Given the description of an element on the screen output the (x, y) to click on. 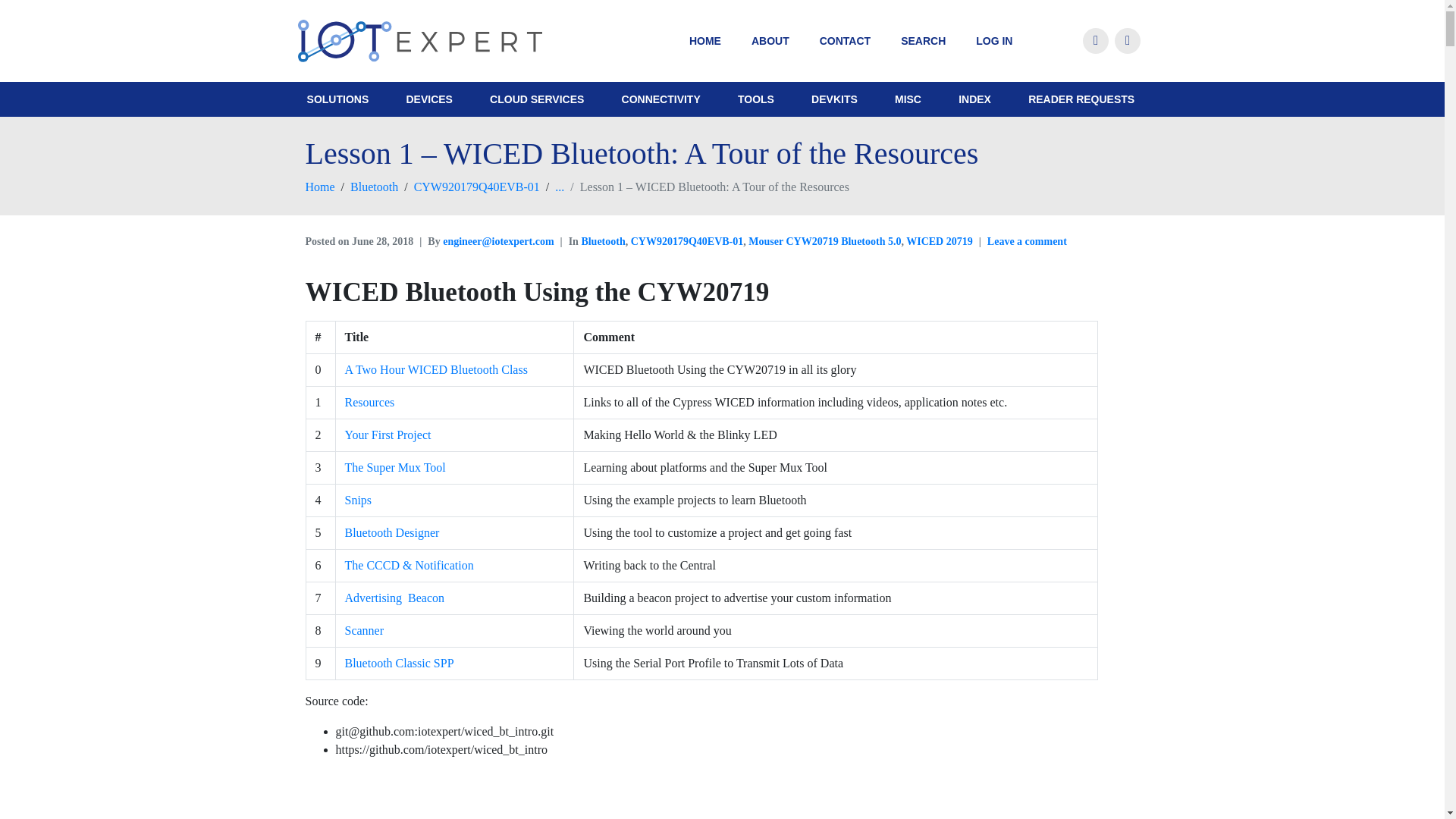
SEARCH (922, 40)
SOLUTIONS (338, 99)
ABOUT (770, 40)
HOME (705, 40)
DEVICES (428, 99)
CONTACT (845, 40)
LOG IN (993, 40)
